Given the description of an element on the screen output the (x, y) to click on. 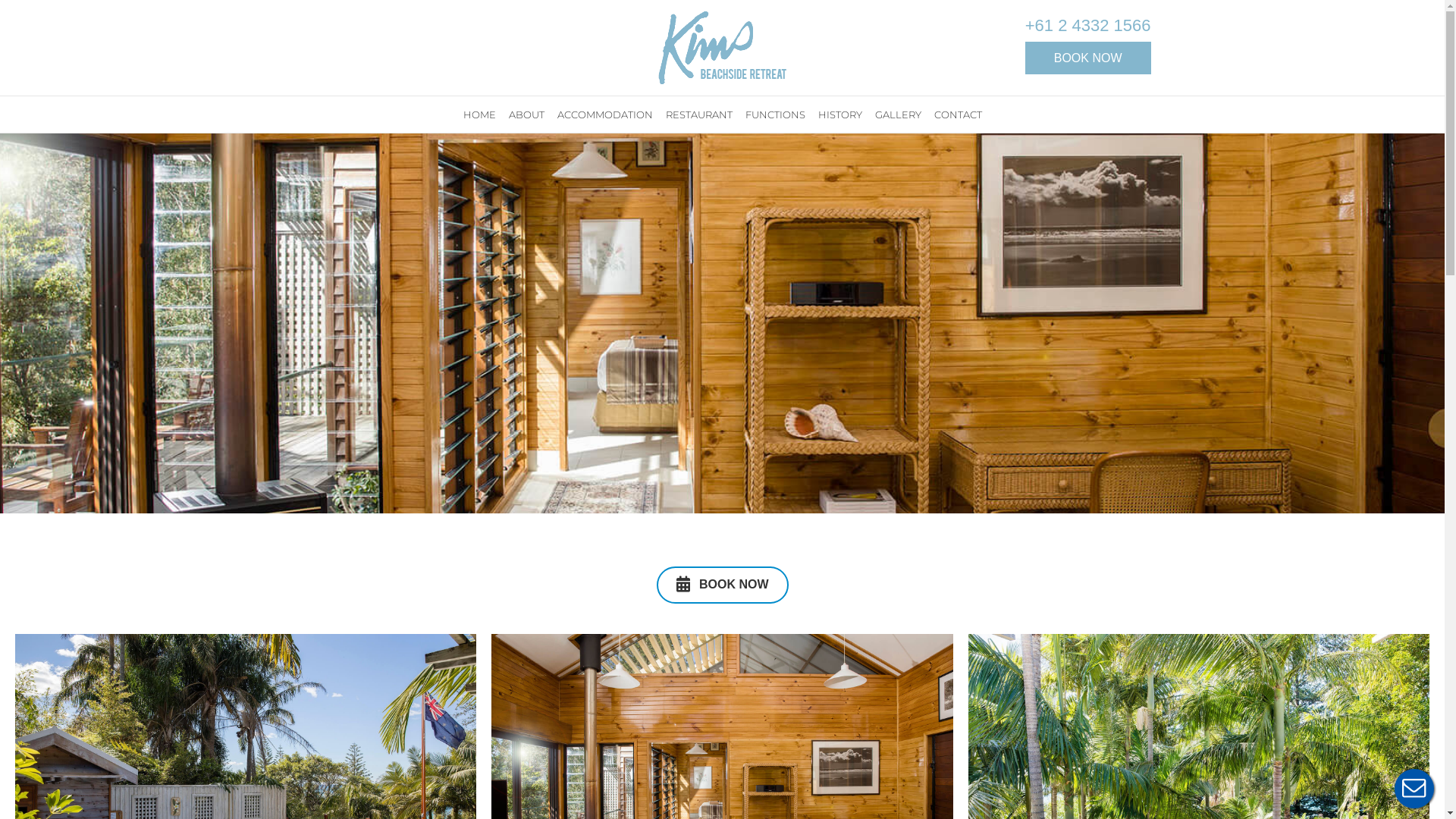
+61 2 4332 1566 Element type: text (1088, 25)
RESTAURANT Element type: text (698, 114)
ACCOMMODATION Element type: text (605, 114)
GALLERY Element type: text (897, 114)
Live Chat Button Element type: hover (1414, 788)
FUNCTIONS Element type: text (775, 114)
HISTORY Element type: text (839, 114)
CONTACT Element type: text (957, 114)
BOOK NOW Element type: text (722, 584)
BOOK NOW Element type: text (1088, 57)
HOME Element type: text (479, 114)
ABOUT Element type: text (526, 114)
